Given the description of an element on the screen output the (x, y) to click on. 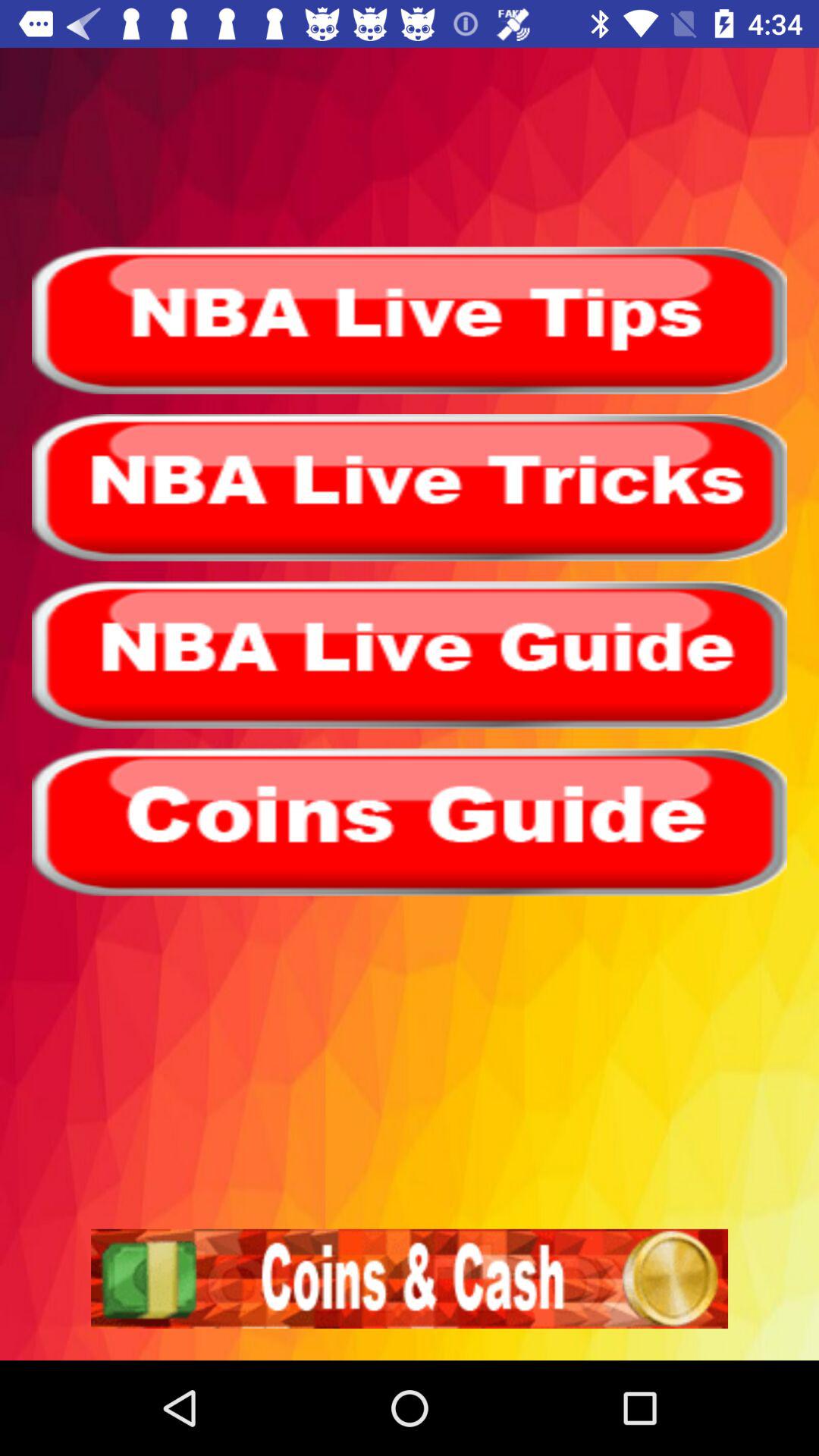
view coins cash (409, 1278)
